Given the description of an element on the screen output the (x, y) to click on. 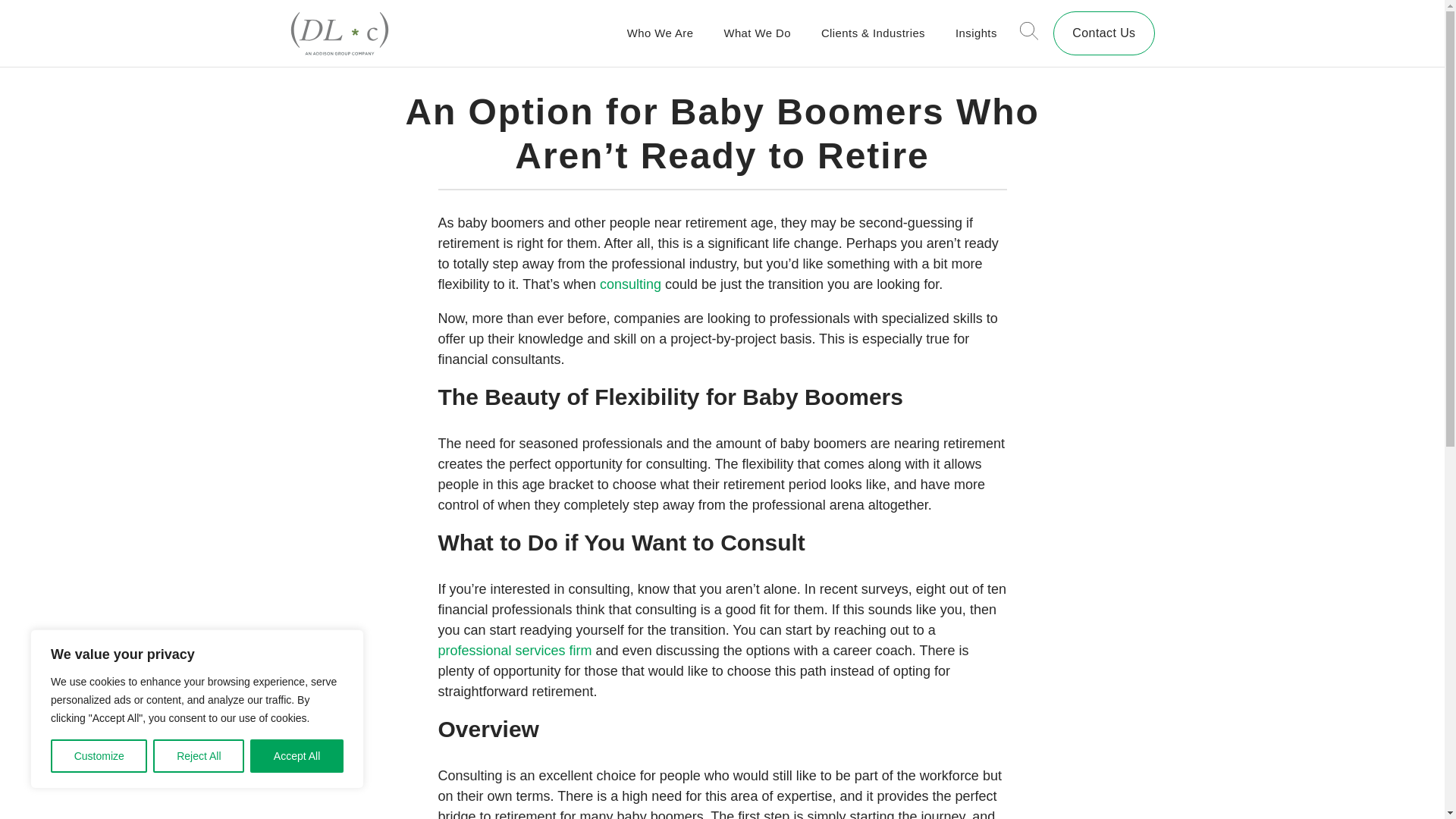
Insights (976, 33)
Contact Us (1103, 33)
consulting (630, 283)
Customize (98, 756)
Accept All (296, 756)
What We Do (756, 33)
Reject All (198, 756)
Who We Are (660, 33)
professional services firm (516, 650)
